Given the description of an element on the screen output the (x, y) to click on. 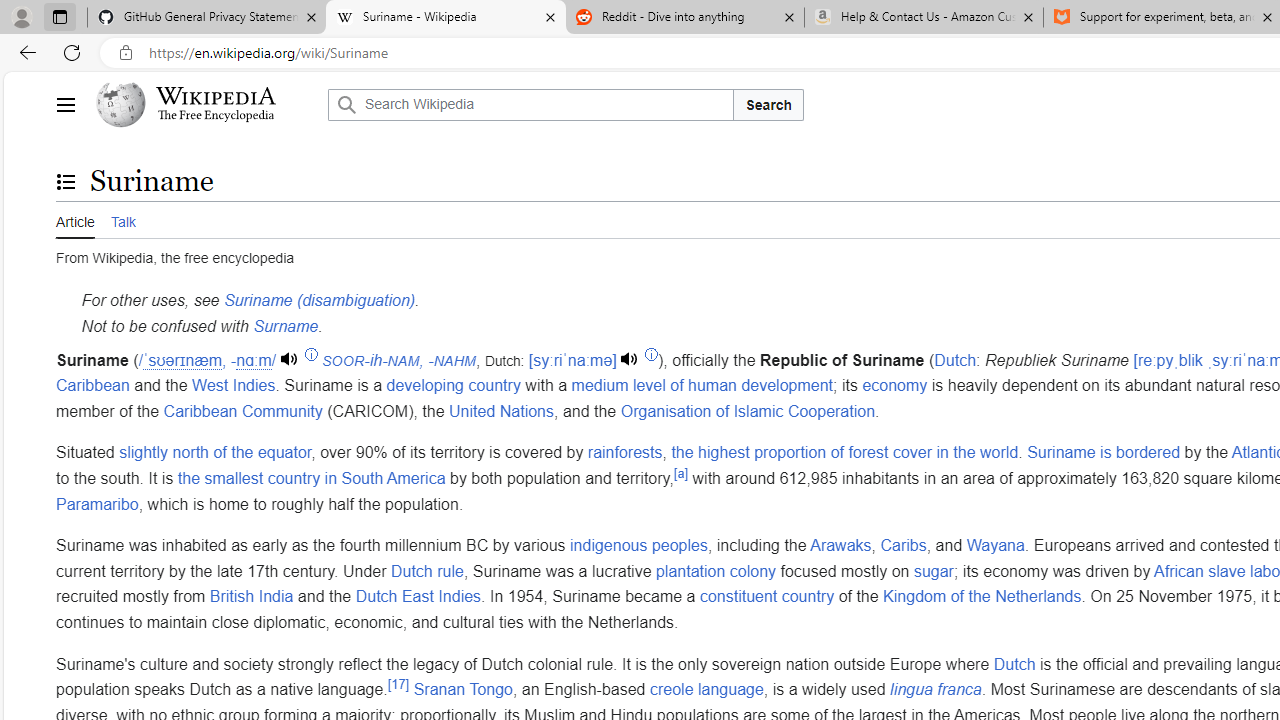
Play audio (631, 359)
the smallest country in South America (310, 477)
Dutch East Indies (418, 597)
Organisation of Islamic Cooperation (747, 410)
United Nations (501, 410)
Caribs (903, 546)
Suriname - Wikipedia (445, 17)
rainforests (625, 453)
Talk (122, 219)
Toggle the table of contents (65, 181)
medium level of human development (702, 386)
